Given the description of an element on the screen output the (x, y) to click on. 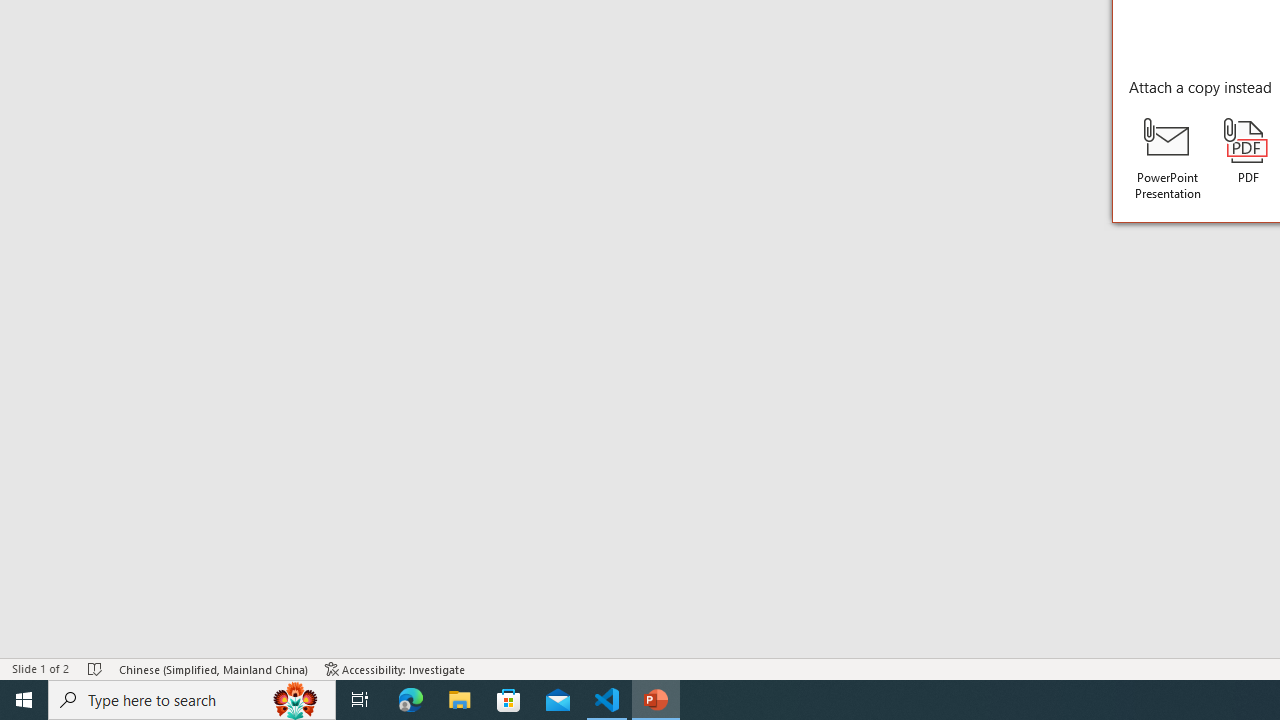
Microsoft Edge (411, 699)
PDF (1247, 151)
PowerPoint Presentation (1167, 159)
